Given the description of an element on the screen output the (x, y) to click on. 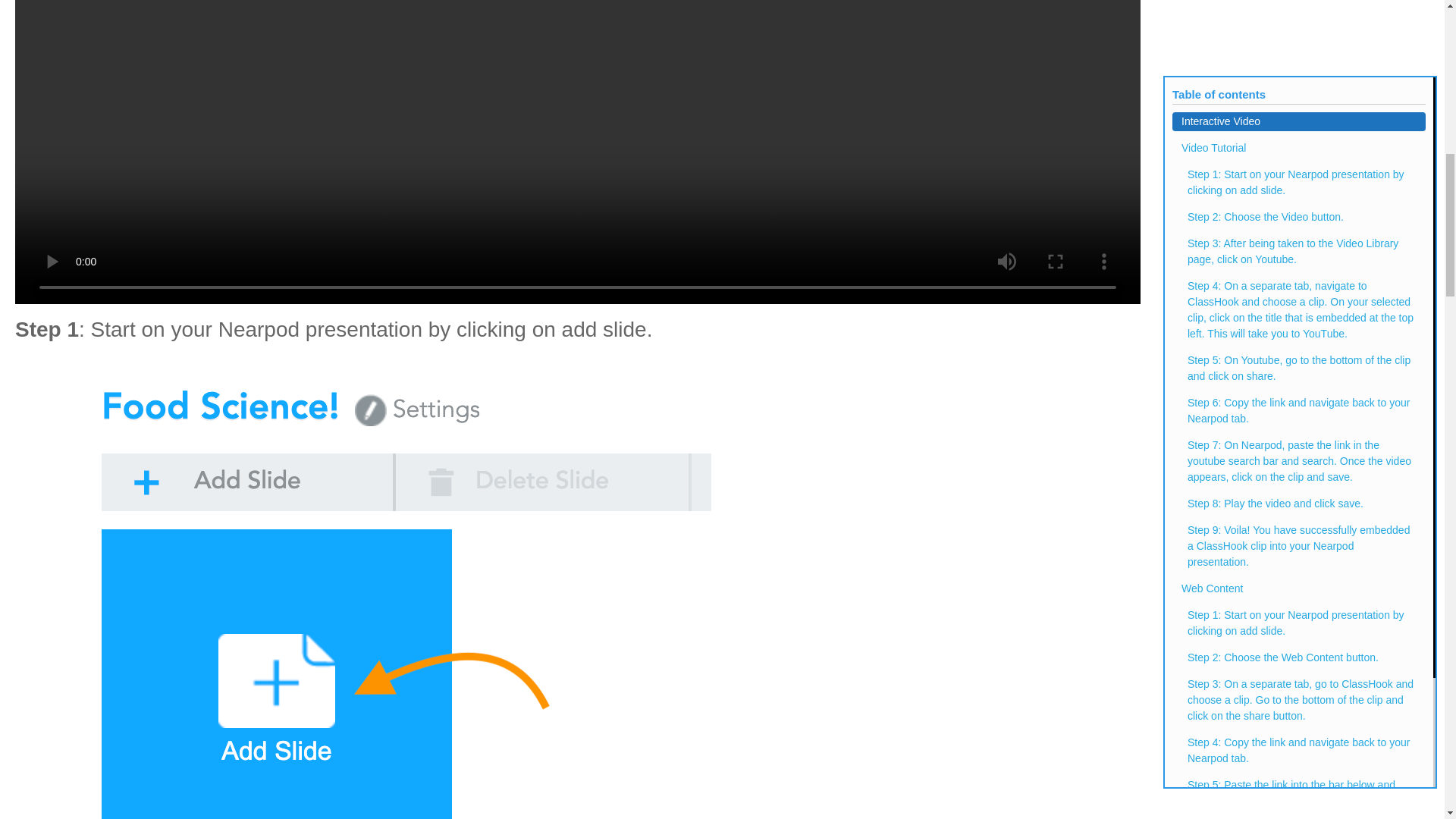
Step 4: Copy the link and navigate back to your Nearpod tab. (1298, 112)
Step 2: Choose the Web Content button. (1298, 18)
